Given the description of an element on the screen output the (x, y) to click on. 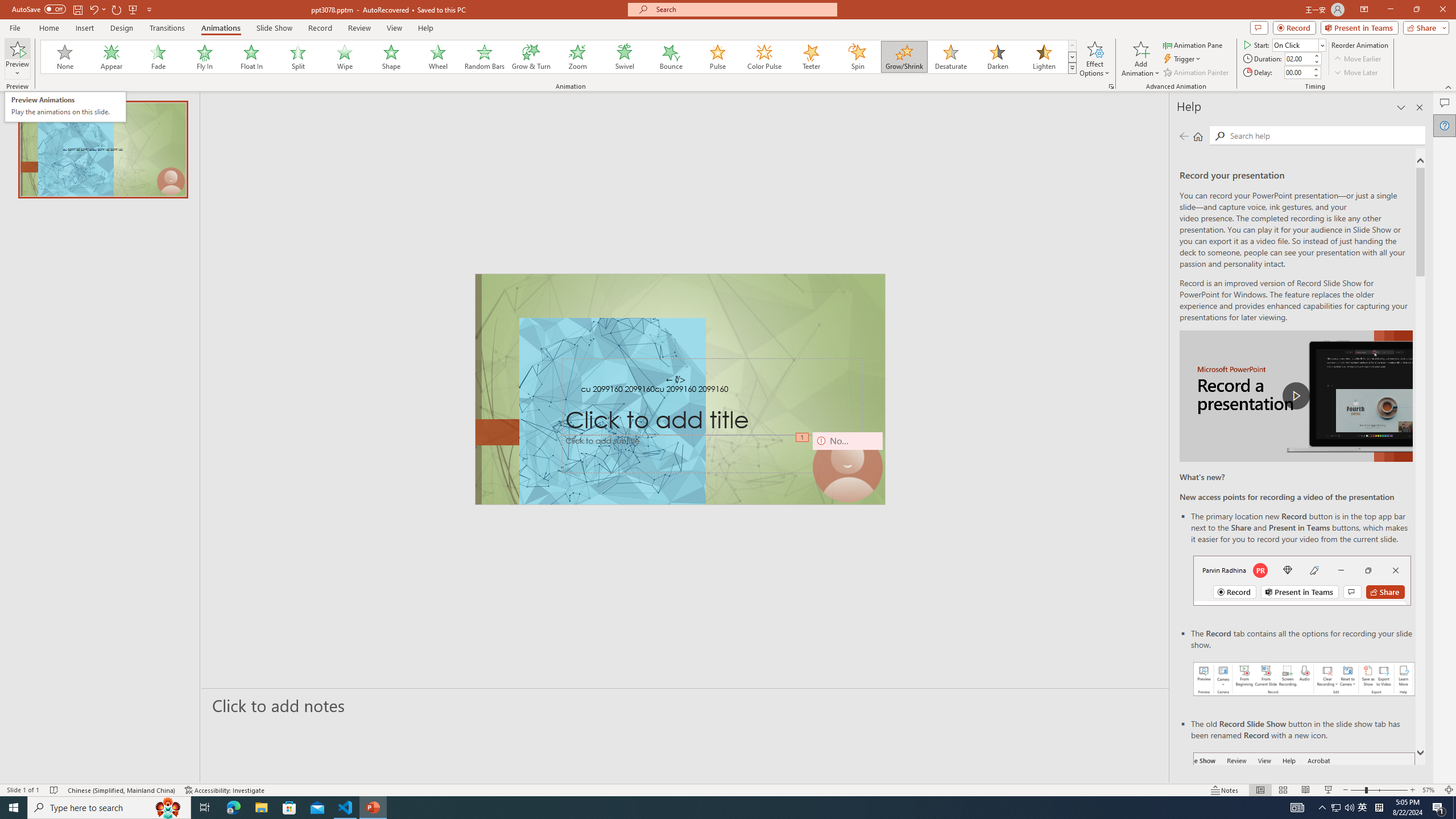
Pulse (717, 56)
Random Bars (484, 56)
Float In (251, 56)
Animation Pane (1193, 44)
Spin (857, 56)
Grow/Shrink (903, 56)
An abstract genetic concept (680, 389)
Slide Notes (685, 705)
Record your presentations screenshot one (1304, 678)
Desaturate (950, 56)
